Given the description of an element on the screen output the (x, y) to click on. 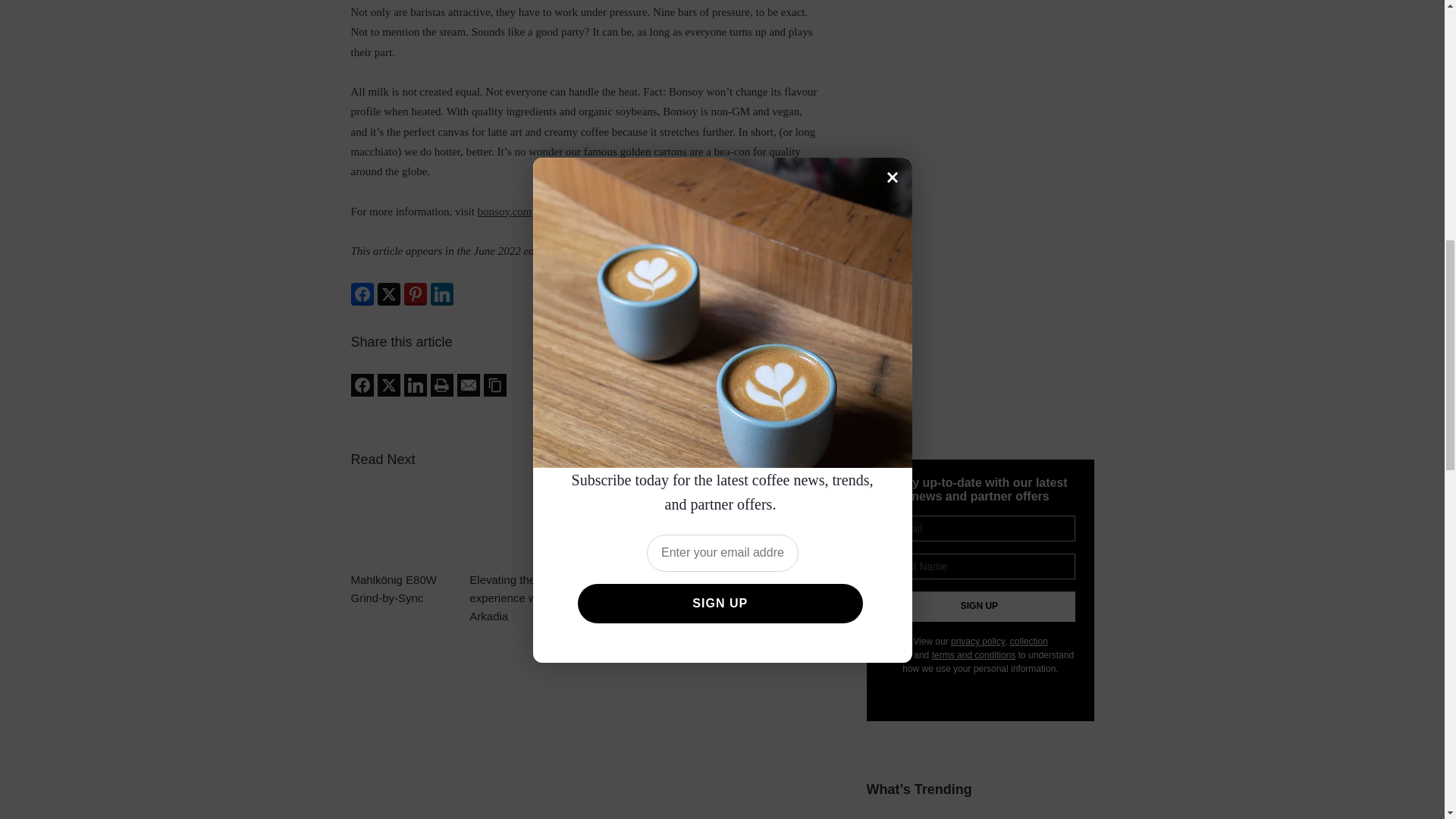
Share on Pinterest (414, 293)
Share on Twitter (388, 384)
Share on LinkedIn (441, 293)
HERE (686, 250)
Share on Facebook (361, 293)
Share on Facebook (361, 384)
Share on Twitter (388, 293)
Share on LinkedIn (414, 384)
bonsoy.com (504, 211)
